Given the description of an element on the screen output the (x, y) to click on. 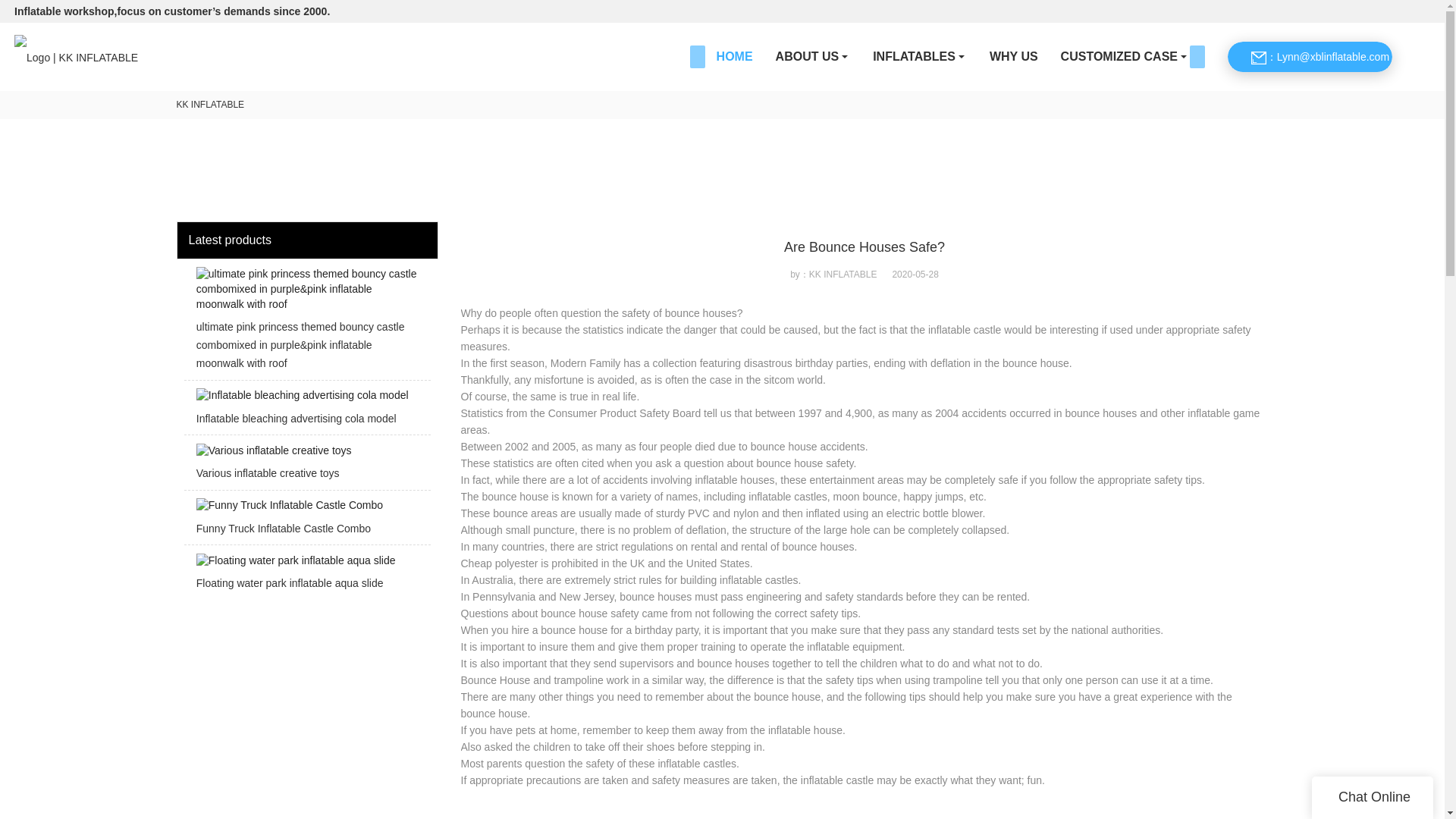
CUSTOMIZED CASE (1124, 56)
KK INFLATABLE (210, 104)
WHY US (1013, 56)
INFLATABLES (919, 56)
ABOUT US (812, 56)
